Given the description of an element on the screen output the (x, y) to click on. 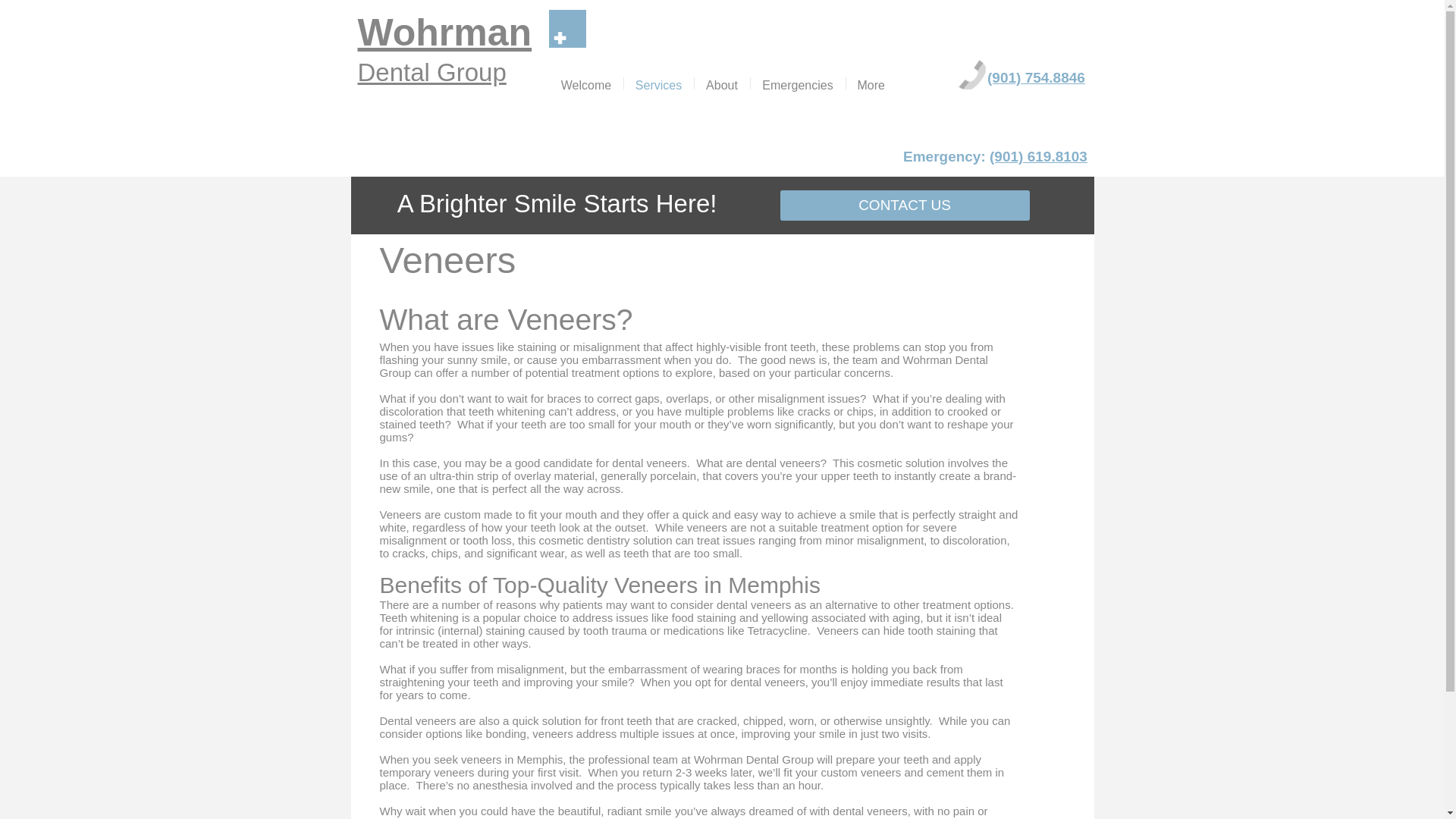
Embedded Content (761, 34)
Services (658, 82)
Wohrman (445, 32)
Embedded Content (1044, 79)
Emergencies (798, 82)
Welcome (585, 82)
Site Search (1040, 18)
Embedded Content (1002, 159)
CONTACT US (903, 205)
About (721, 82)
